Given the description of an element on the screen output the (x, y) to click on. 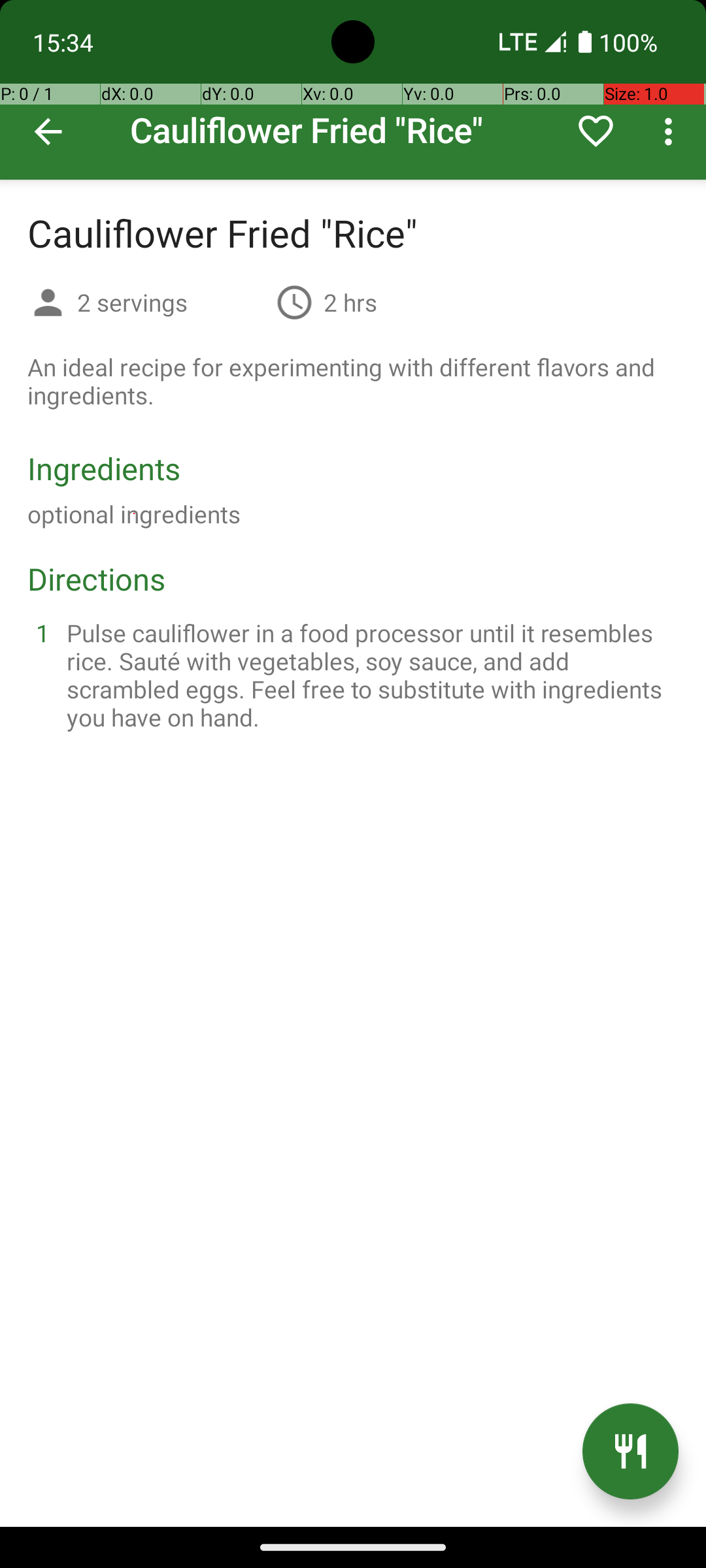
Pulse cauliflower in a food processor until it resembles rice. Sauté with vegetables, soy sauce, and add scrambled eggs. Feel free to substitute with ingredients you have on hand. Element type: android.widget.TextView (368, 674)
